Given the description of an element on the screen output the (x, y) to click on. 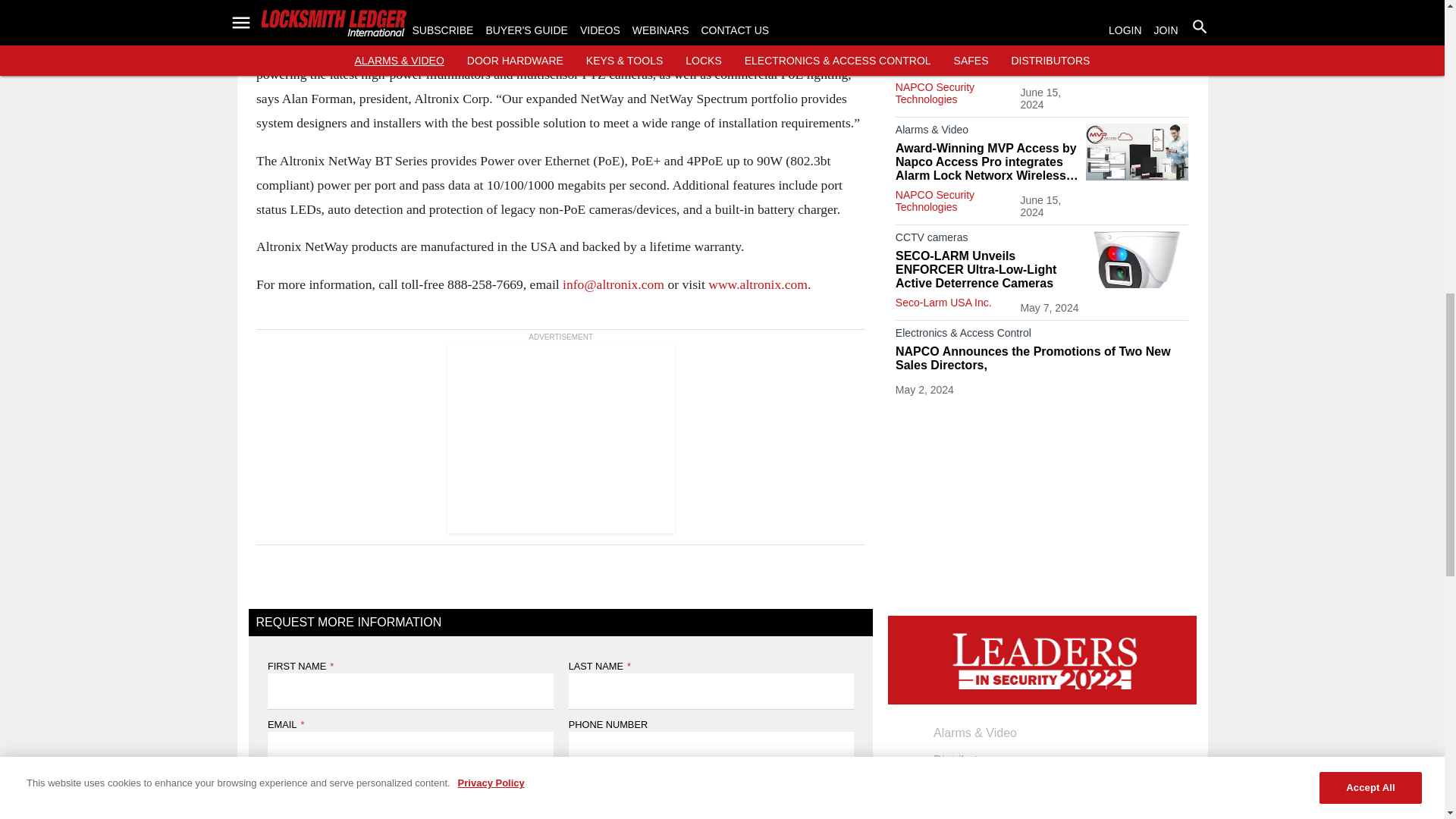
3rd party ad content (560, 437)
